Given the description of an element on the screen output the (x, y) to click on. 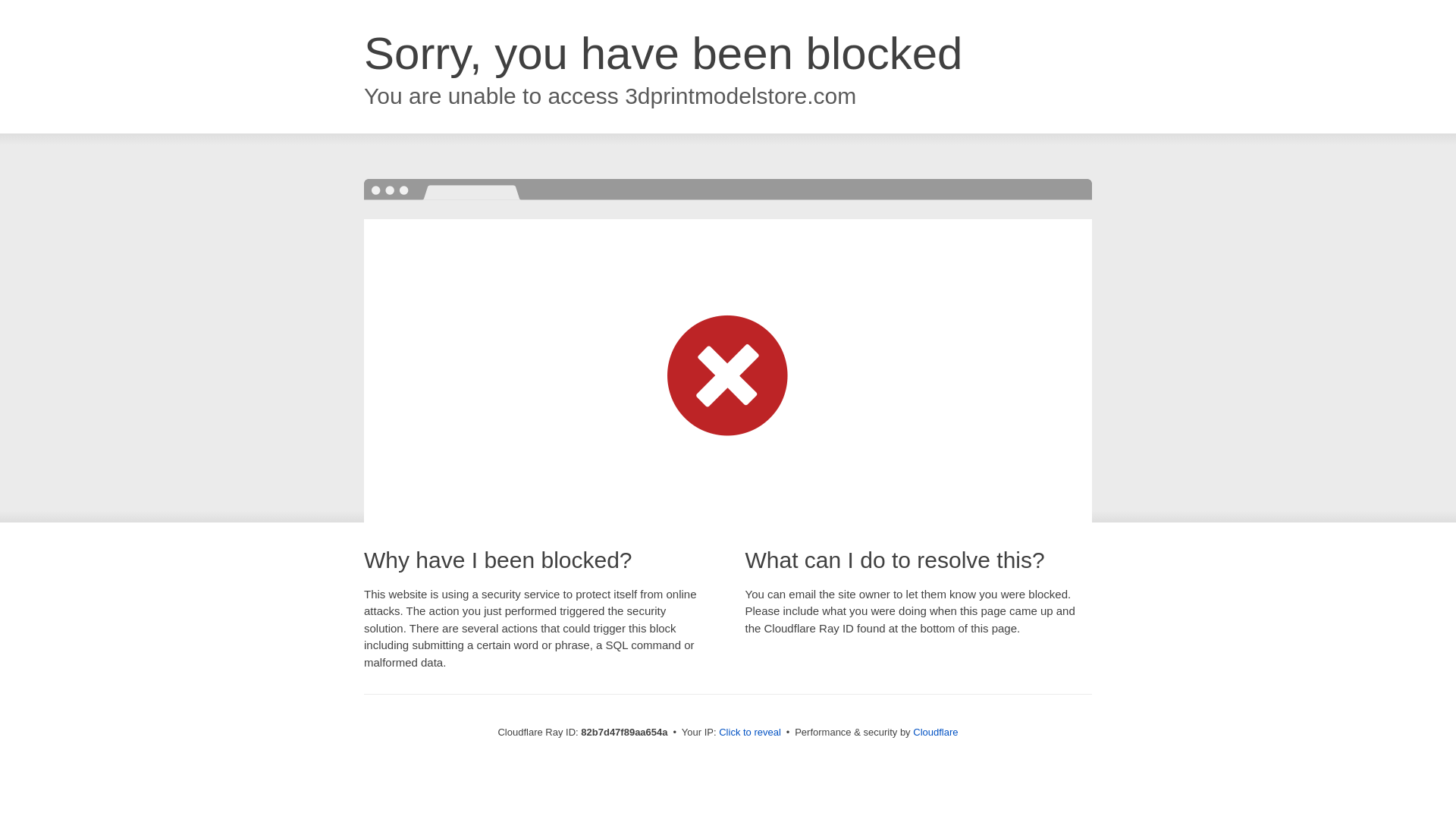
Cloudflare Element type: text (935, 731)
Click to reveal Element type: text (749, 732)
